Given the description of an element on the screen output the (x, y) to click on. 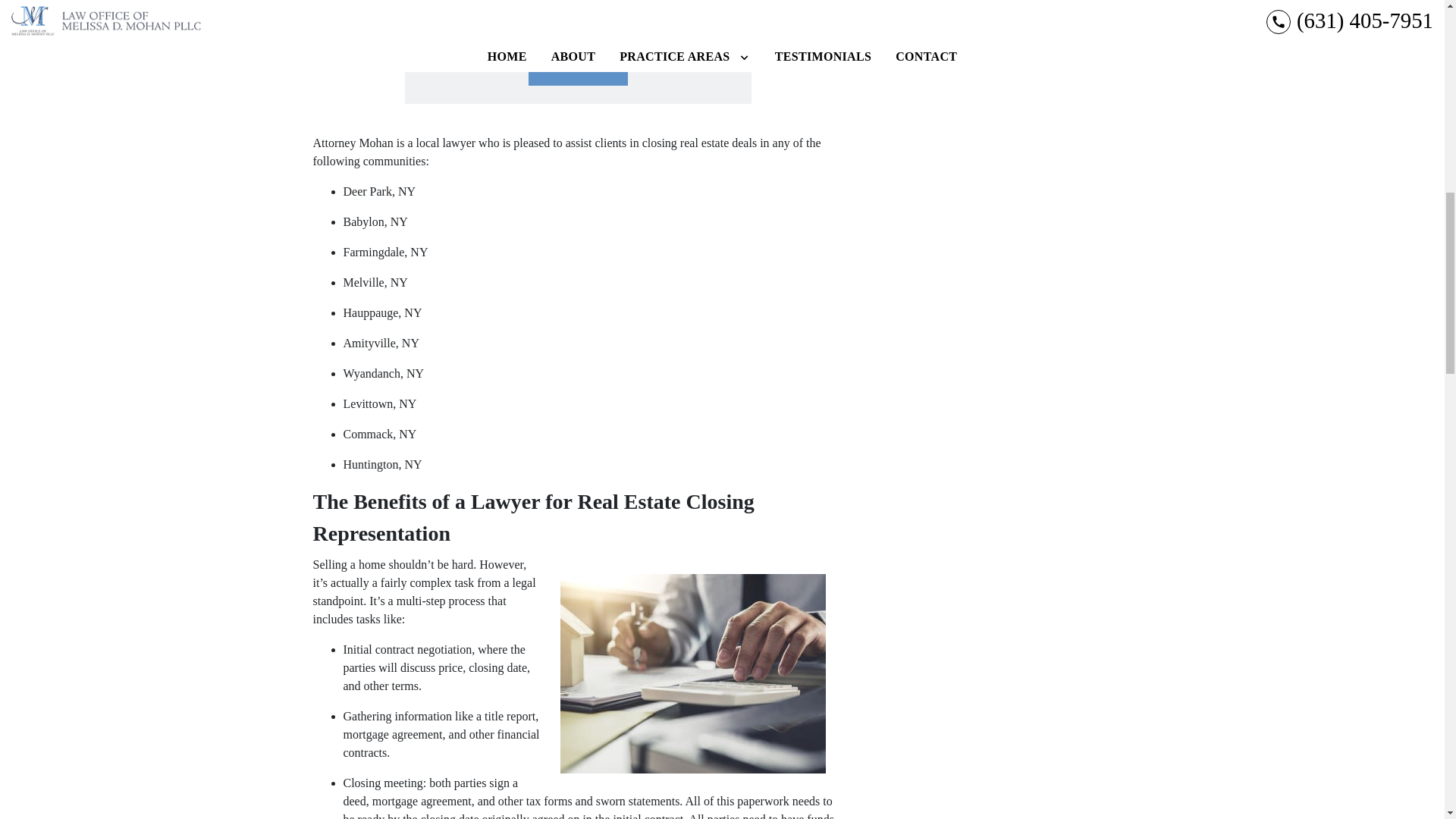
PROJECT MANAGEMENT (1036, 9)
CALL NOW (578, 67)
